Given the description of an element on the screen output the (x, y) to click on. 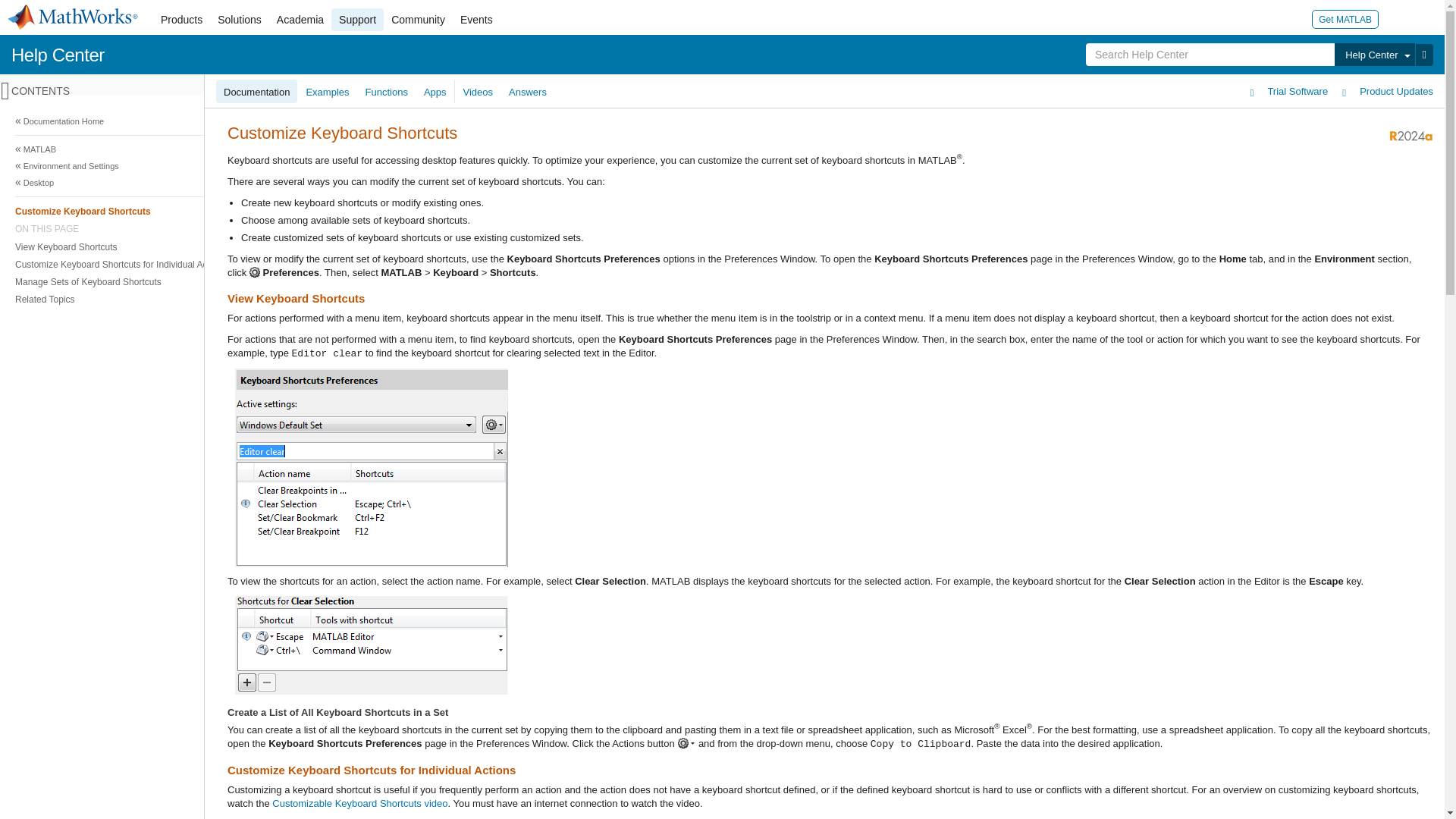
Documentation Home (720, 121)
Customize Keyboard Shortcuts (720, 211)
Get MATLAB (1344, 18)
Solutions (239, 19)
Help Center (57, 54)
Customize Keyboard Shortcuts (718, 211)
Support (357, 19)
Community (418, 19)
View Keyboard Shortcuts (718, 246)
Help Center (1374, 54)
